Given the description of an element on the screen output the (x, y) to click on. 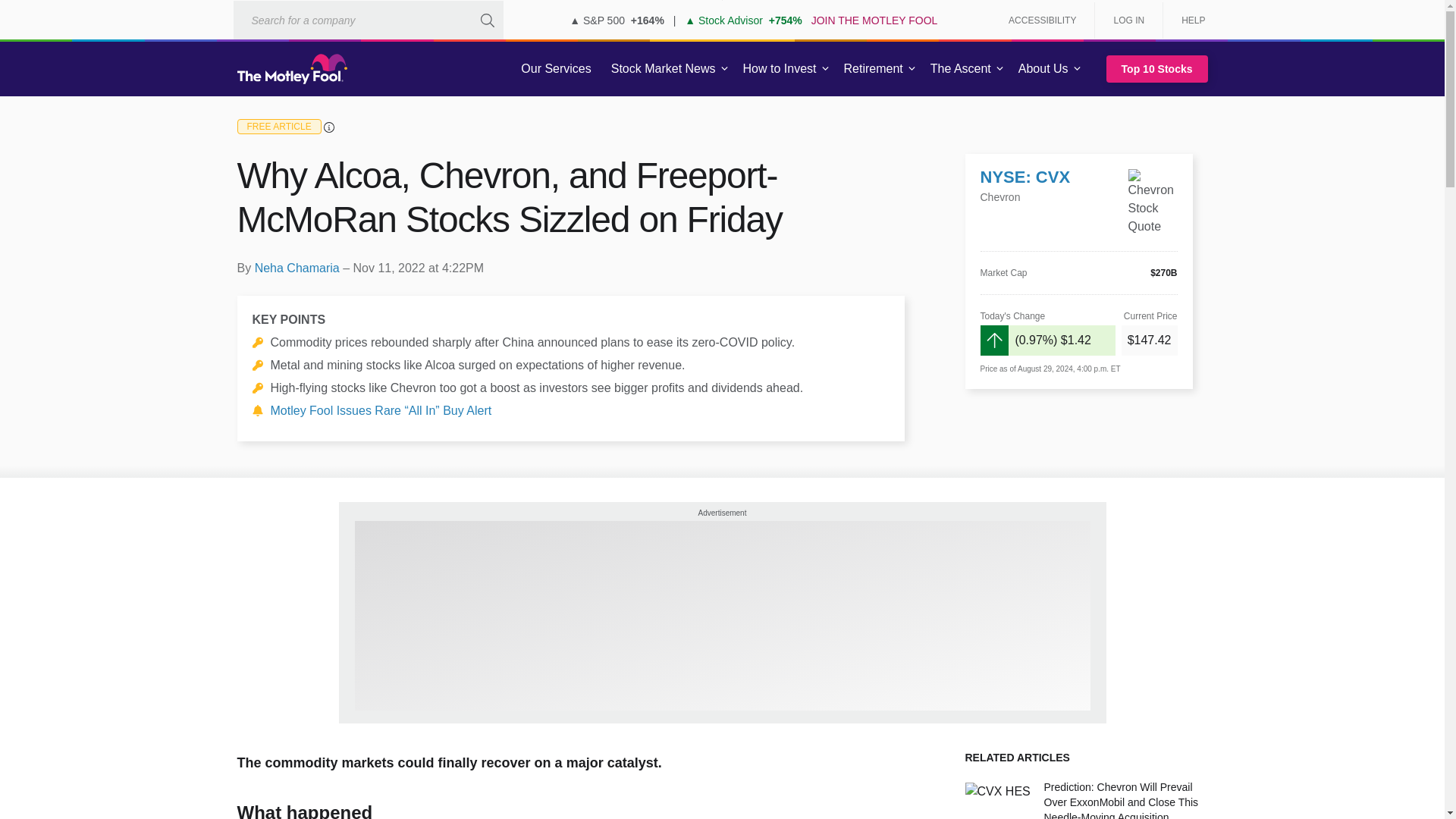
Stock Market News (662, 68)
Our Services (555, 68)
ACCESSIBILITY (1042, 19)
LOG IN (1128, 19)
HELP (1187, 19)
How to Invest (779, 68)
